Given the description of an element on the screen output the (x, y) to click on. 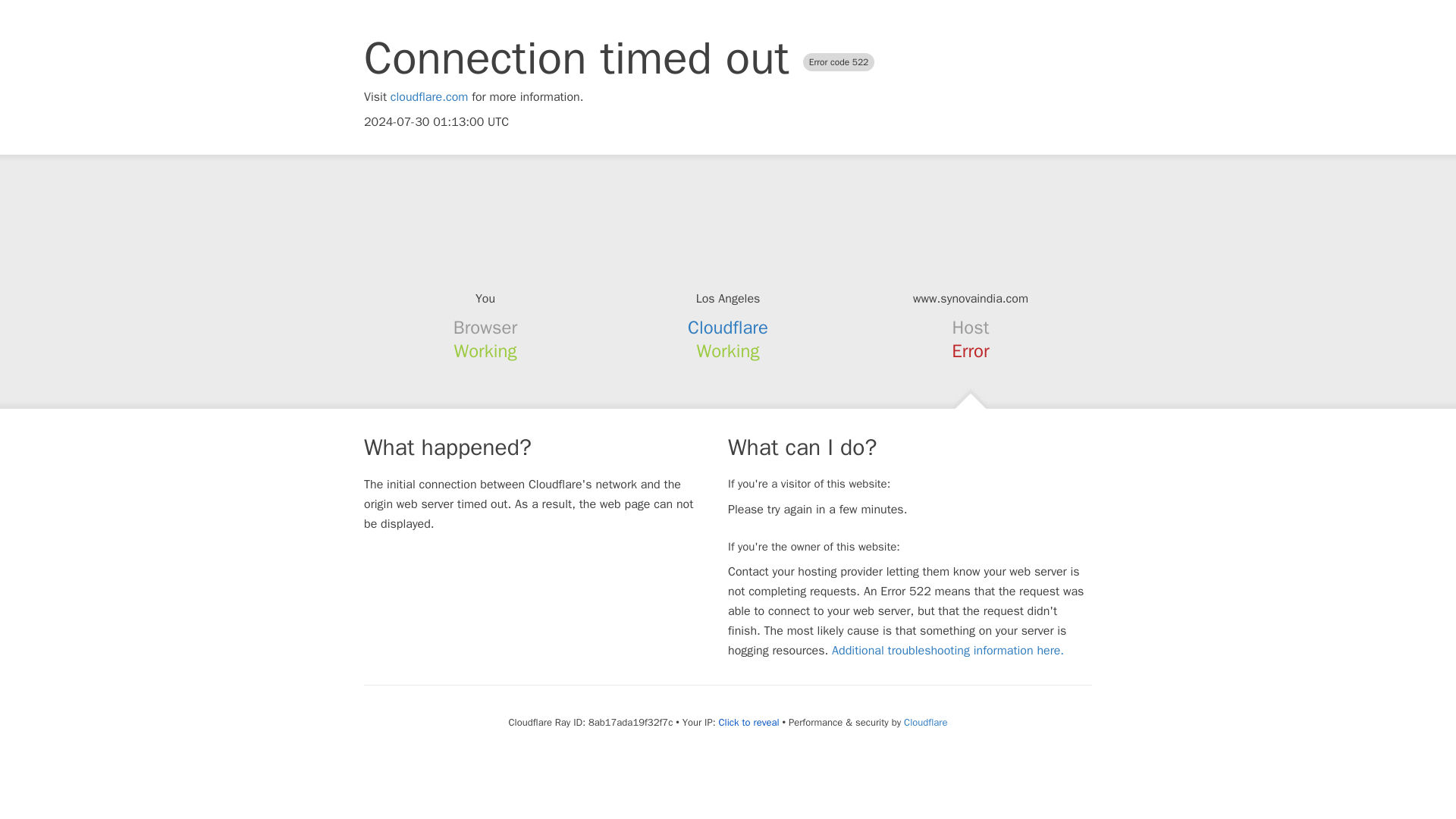
Cloudflare (727, 327)
Additional troubleshooting information here. (947, 650)
cloudflare.com (429, 96)
Click to reveal (748, 722)
Cloudflare (925, 721)
